Given the description of an element on the screen output the (x, y) to click on. 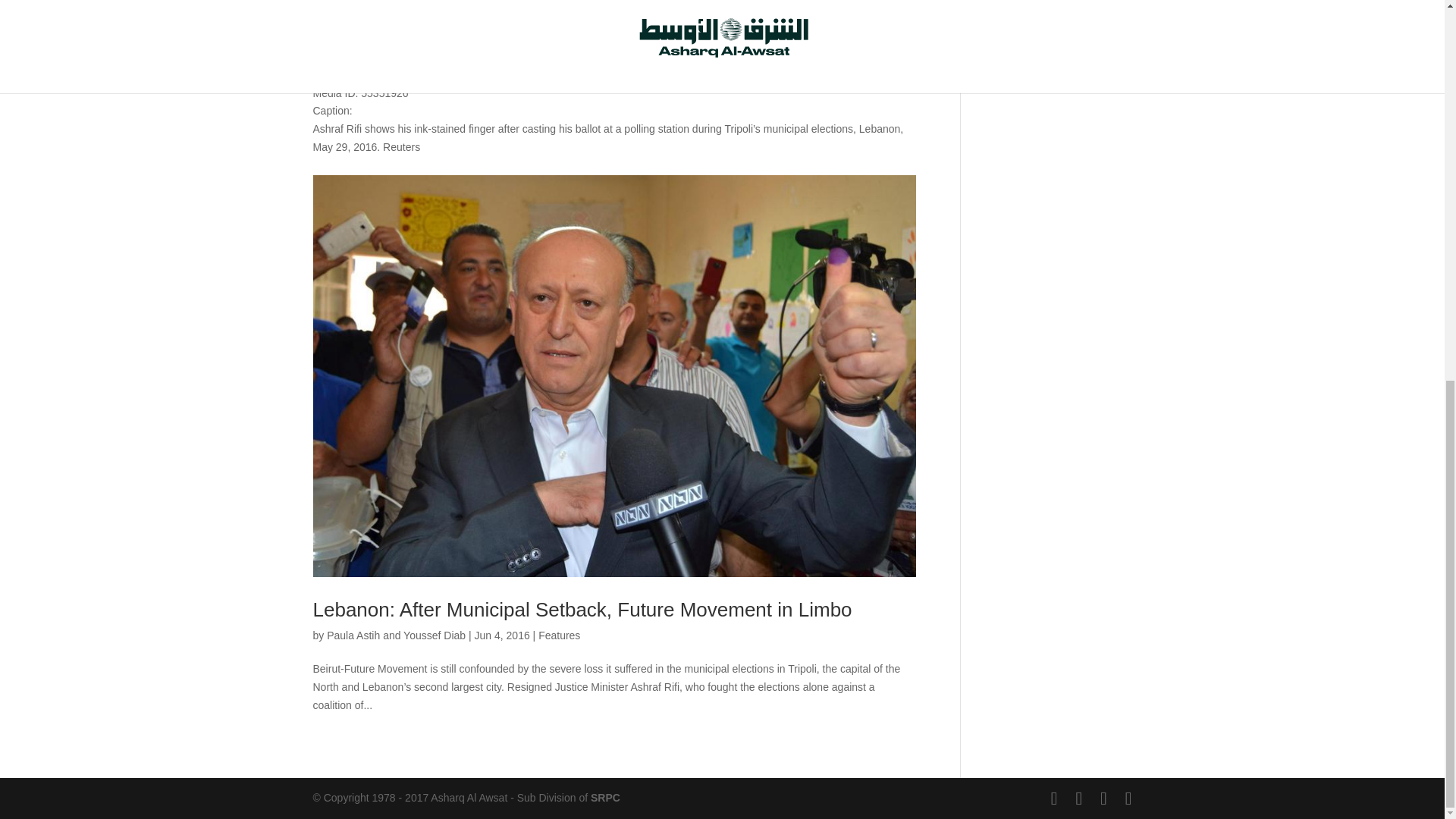
Features (558, 635)
Lebanon: After Municipal Setback, Future Movement in Limbo (582, 609)
Posts by Paula Astih and Youssef Diab (395, 635)
SRPC (605, 797)
Paula Astih and Youssef Diab (395, 635)
